Given the description of an element on the screen output the (x, y) to click on. 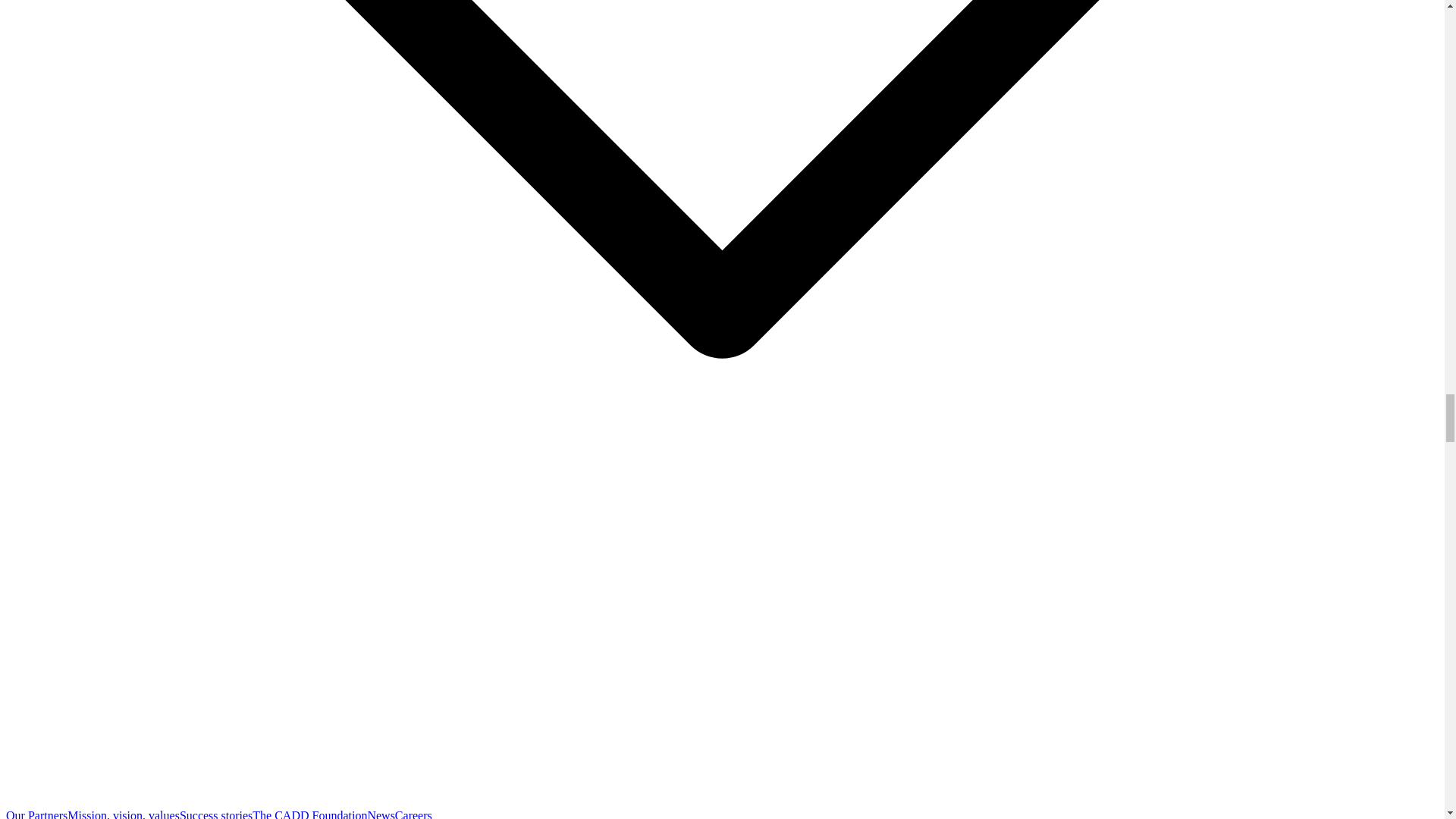
Mission, vision, values (122, 814)
The CADD Foundation (308, 814)
Success stories (215, 814)
News (380, 814)
Careers (413, 814)
Our Partners (35, 814)
